Given the description of an element on the screen output the (x, y) to click on. 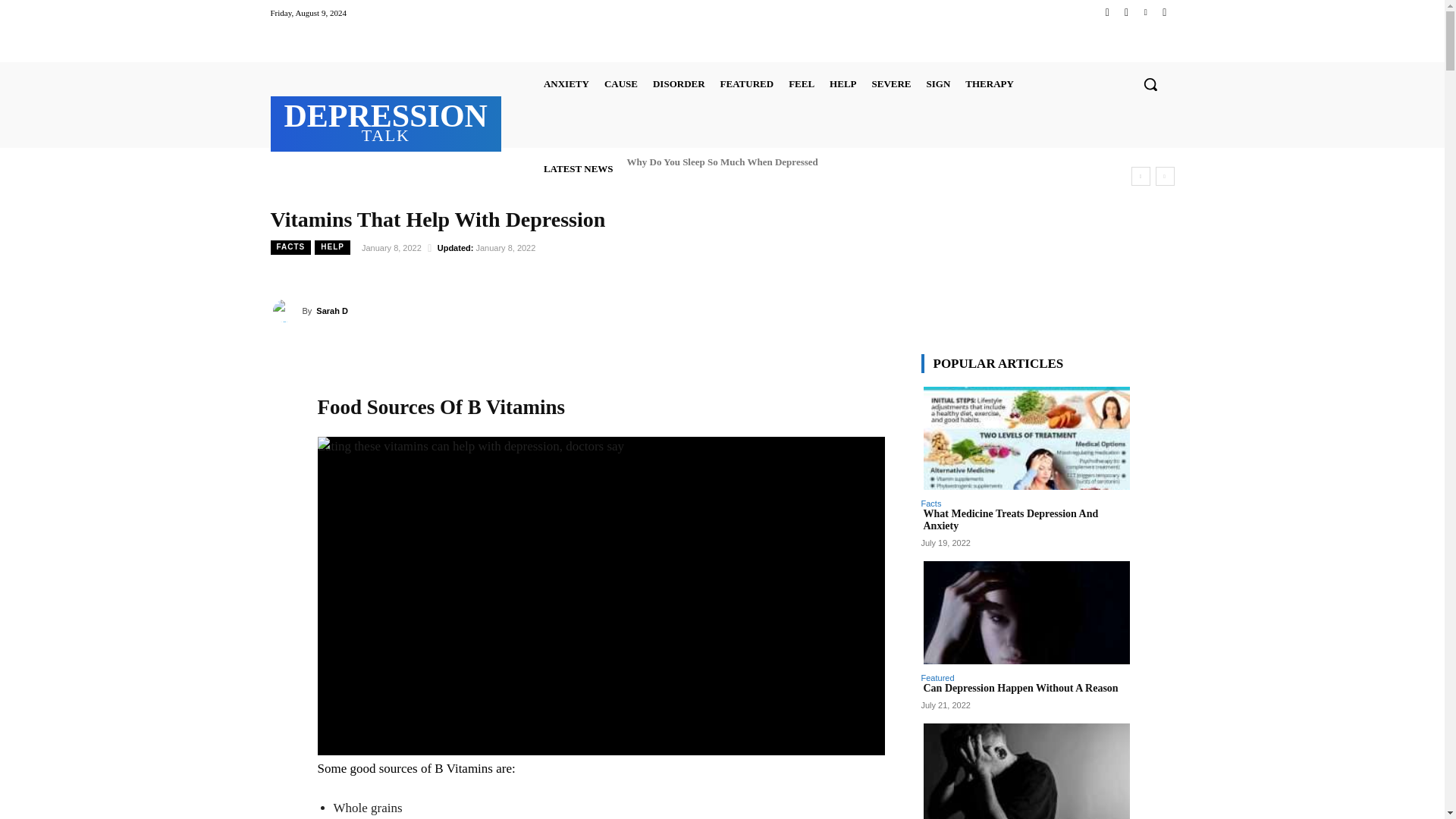
Twitter (1144, 12)
Facebook (1106, 12)
ANXIETY (566, 83)
Instagram (1125, 12)
CAUSE (620, 83)
Youtube (1163, 12)
